Given the description of an element on the screen output the (x, y) to click on. 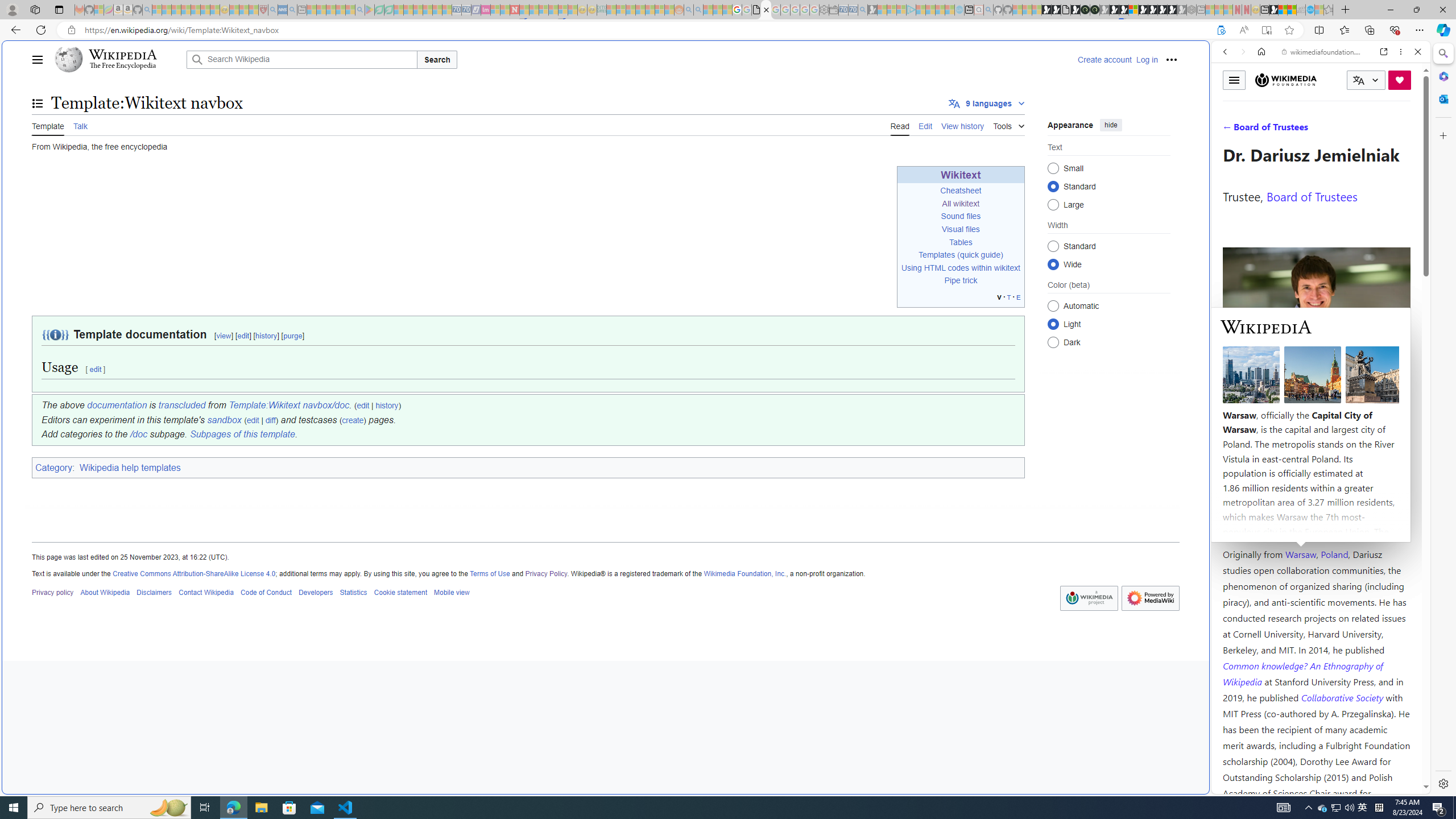
Creative Commons Attribution-ShareAlike License 4.0 (193, 573)
Wikipedia help templates (129, 467)
/doc (138, 434)
Template (48, 124)
Template (48, 124)
Code of Conduct (265, 592)
